Given the description of an element on the screen output the (x, y) to click on. 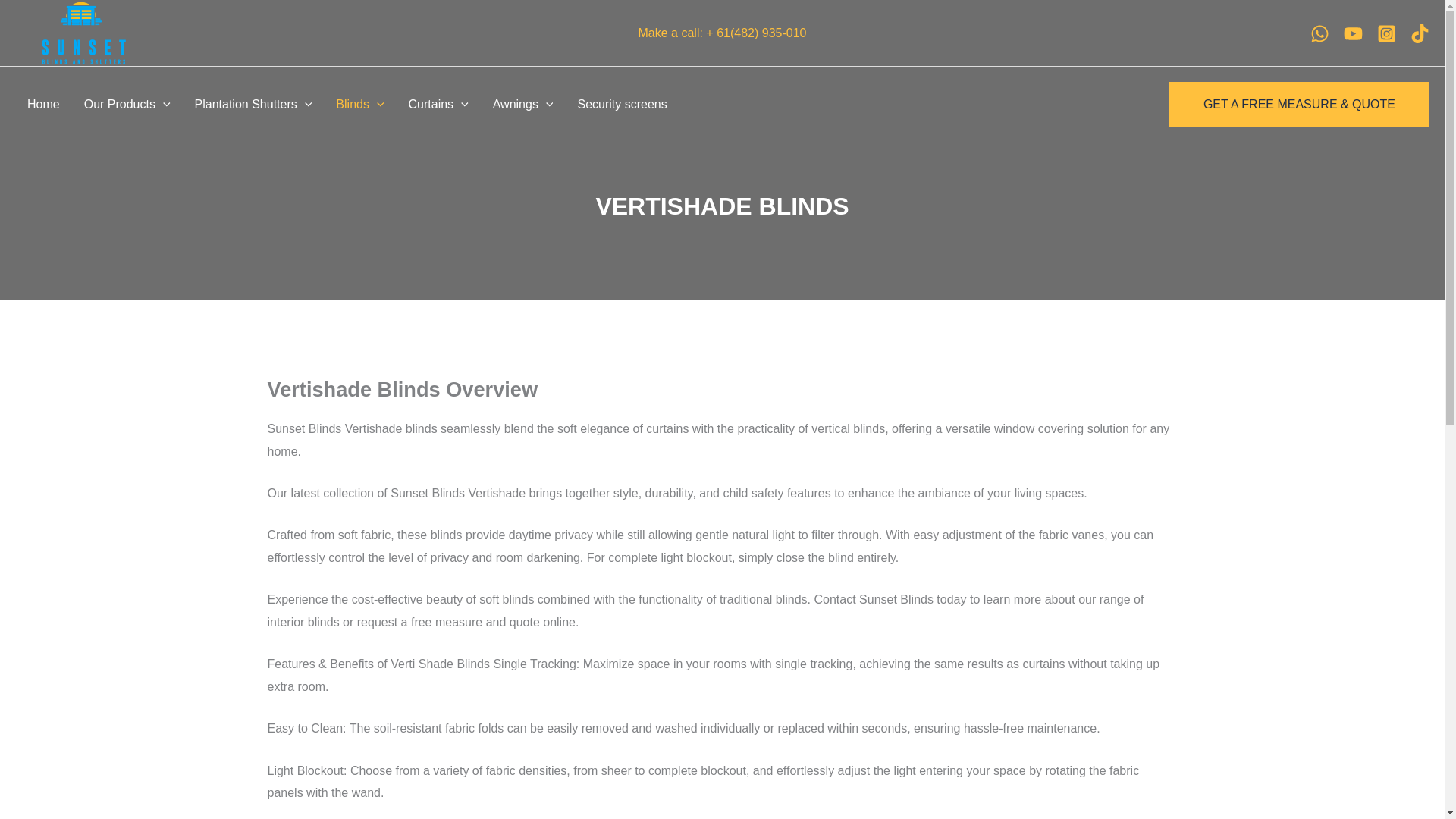
Awnings (523, 104)
Curtains (438, 104)
Plantation Shutters (253, 104)
Blinds (359, 104)
Our Products (127, 104)
Home (42, 104)
